Given the description of an element on the screen output the (x, y) to click on. 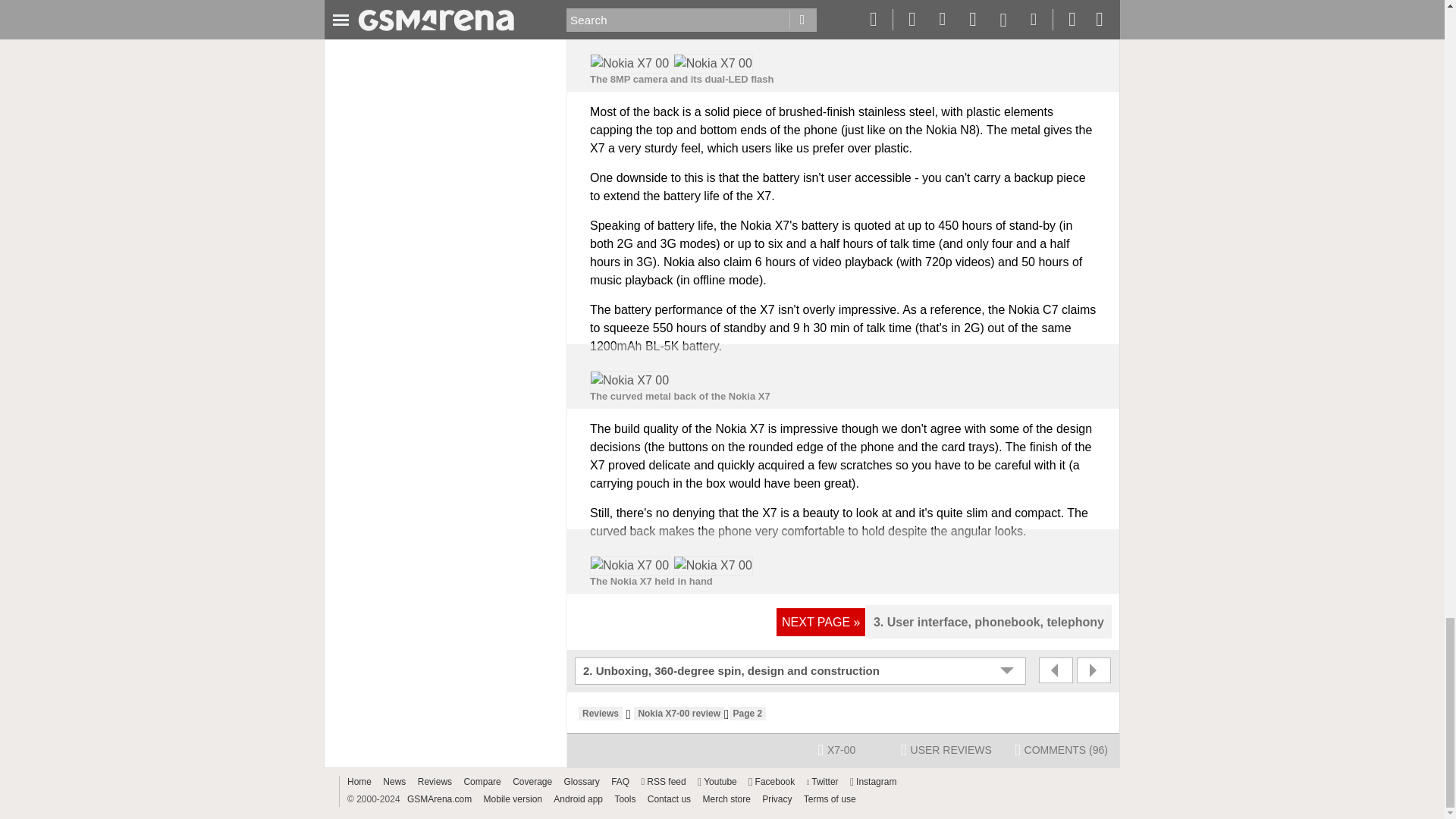
Previous page (1056, 670)
2. Unboxing, 360-degree spin, design and construction (802, 670)
Next page (1093, 670)
